Given the description of an element on the screen output the (x, y) to click on. 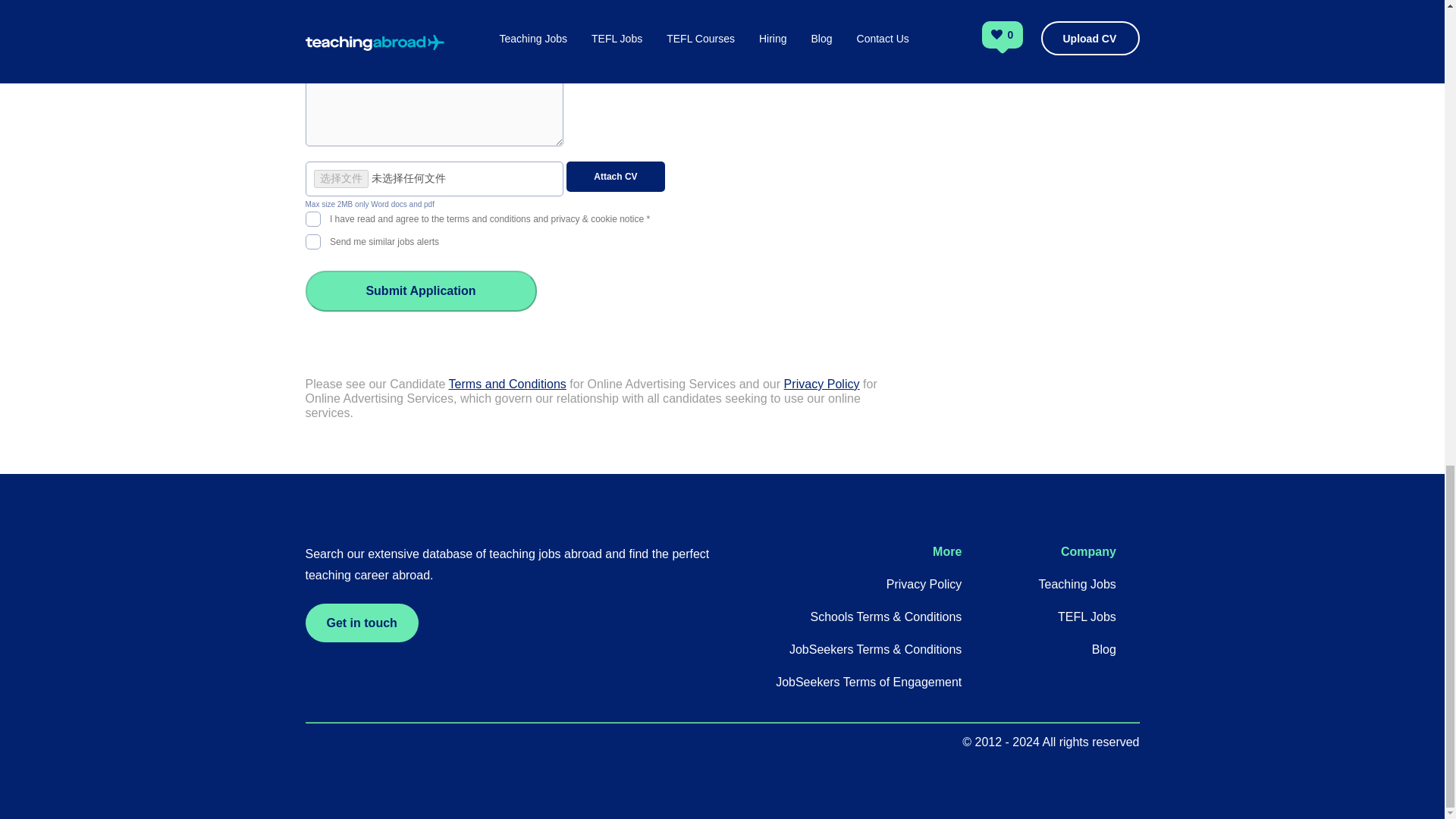
Privacy Policy (822, 383)
JobSeekers Terms of Engagement (868, 681)
Teaching Jobs (1077, 584)
on (312, 239)
TEFL Jobs (1087, 616)
on (312, 216)
Privacy Policy (924, 584)
Submit Application (419, 291)
Please see our Candidate (376, 383)
Get in touch (360, 622)
